Given the description of an element on the screen output the (x, y) to click on. 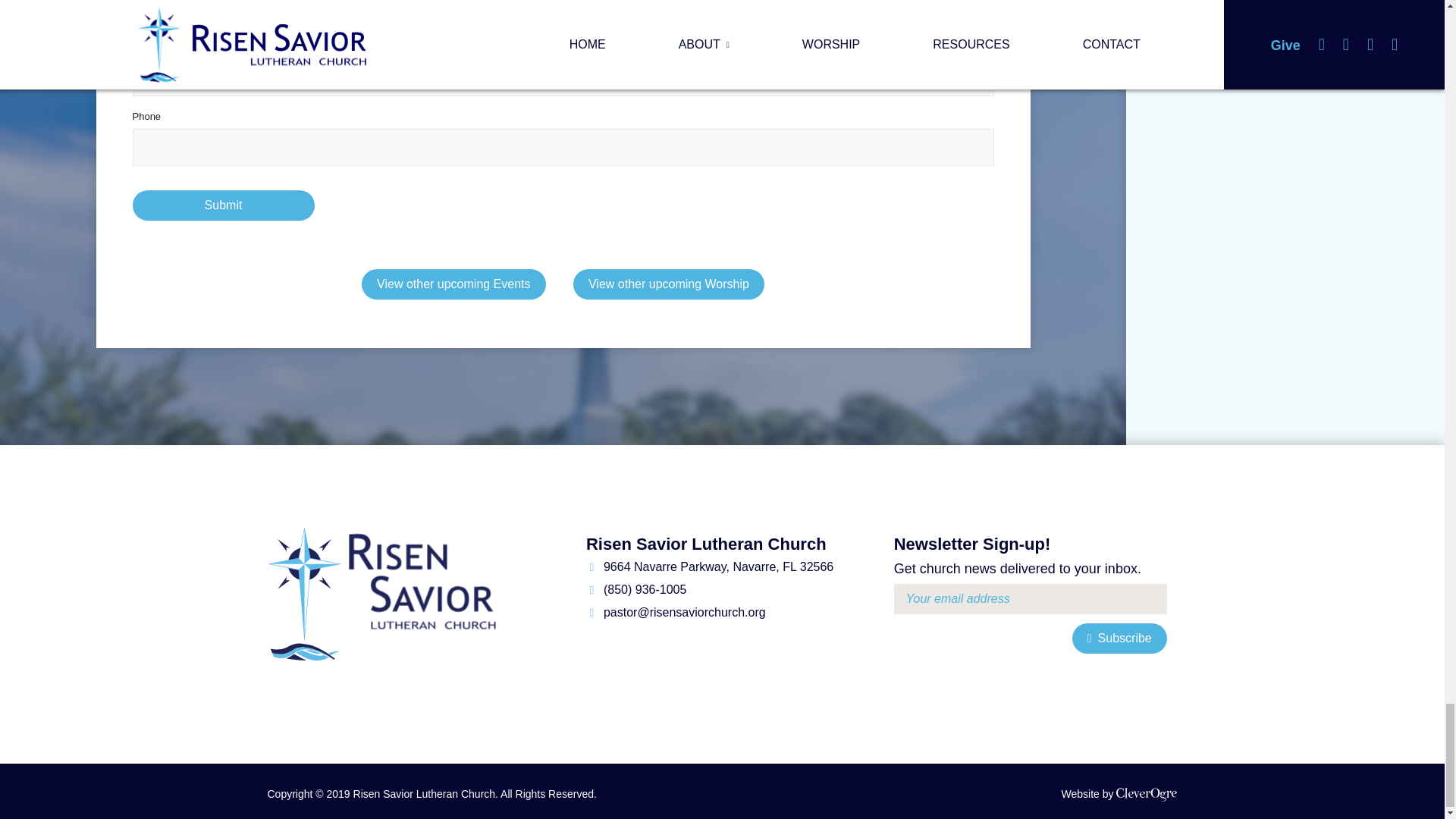
View other upcoming Worship (668, 284)
View other upcoming Events (452, 284)
Discover what CleverOgre can build for you! (1119, 794)
View all posts in Worship (668, 284)
Send us an email (675, 612)
Call us today (635, 589)
Submit (223, 205)
Visit our Location (709, 567)
View all posts in Events (452, 284)
